Given the description of an element on the screen output the (x, y) to click on. 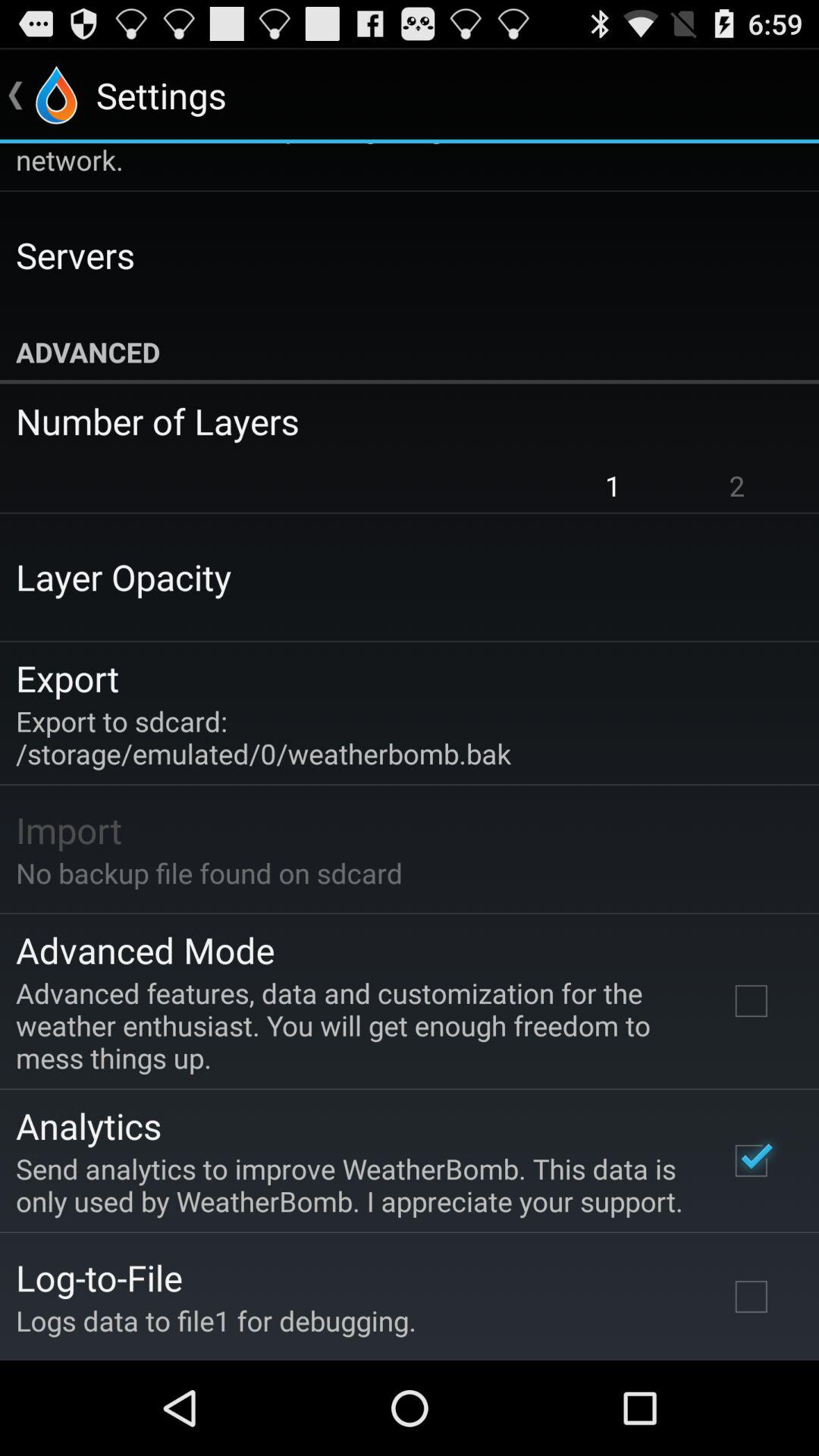
launch the app below the advanced icon (399, 420)
